Given the description of an element on the screen output the (x, y) to click on. 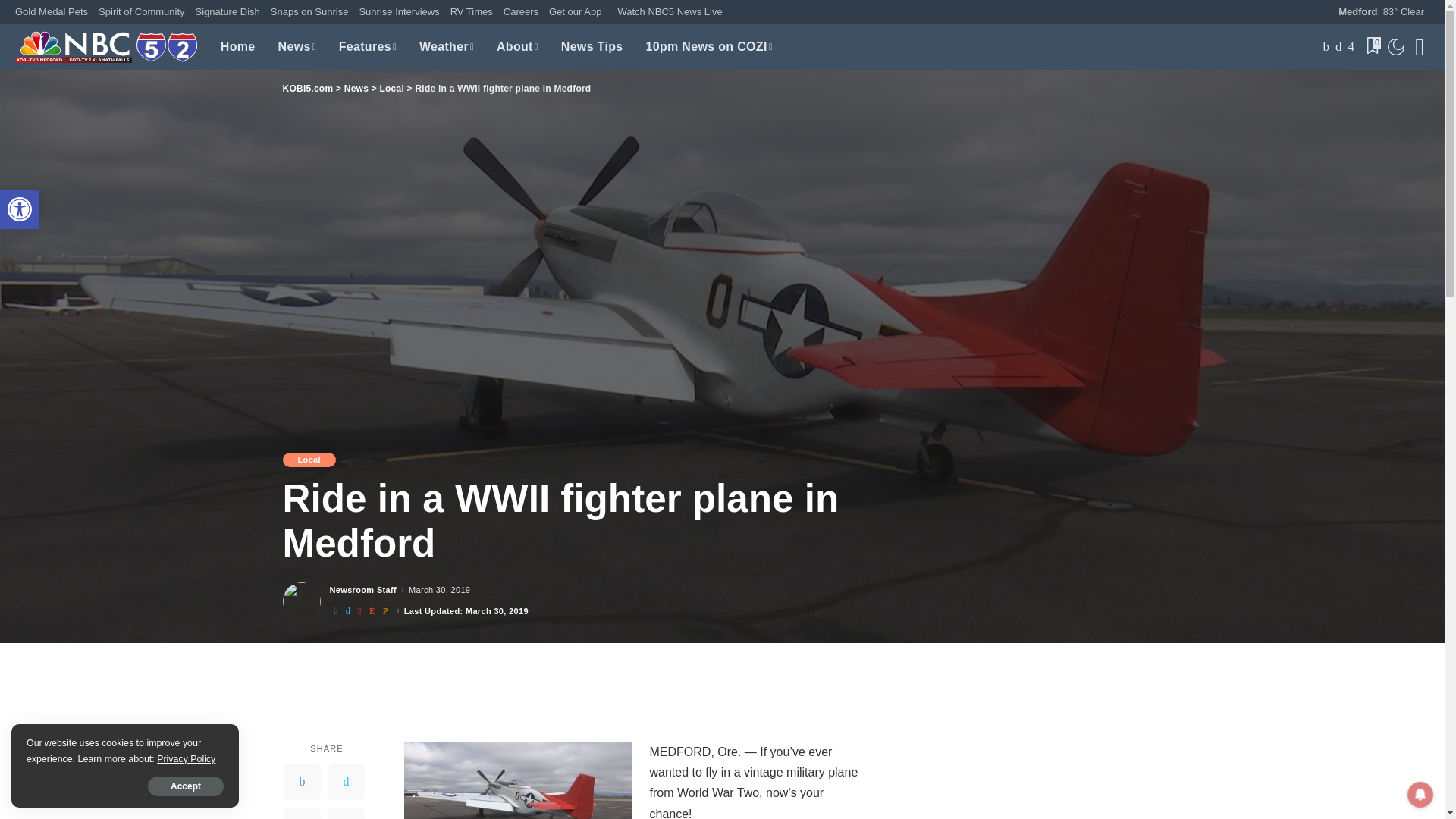
2019-03-30T17:43:47-07:00 (439, 589)
Accessibility Tools (19, 209)
Go to the News category archives. (19, 209)
Accessibility Tools (355, 88)
Go to the Local category archives. (19, 209)
